Given the description of an element on the screen output the (x, y) to click on. 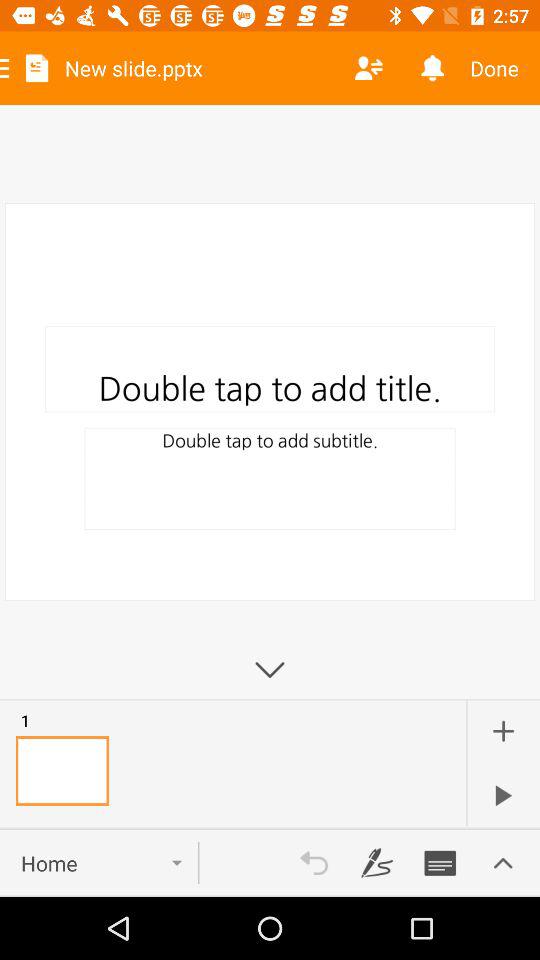
write (440, 863)
